Given the description of an element on the screen output the (x, y) to click on. 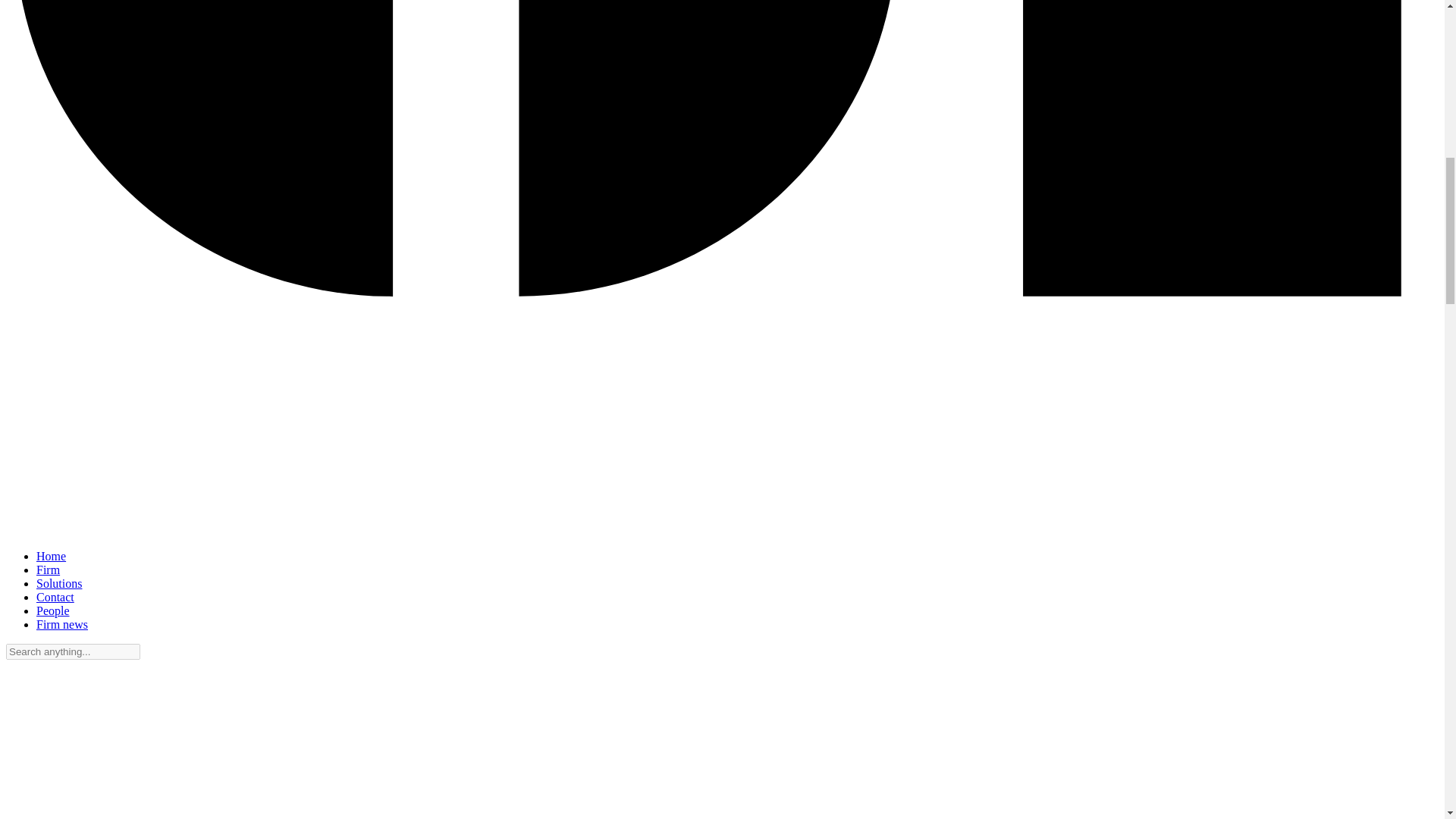
Contact (55, 596)
Firm news (61, 624)
Solutions (58, 583)
Firm (47, 569)
Home (50, 555)
People (52, 610)
